Given the description of an element on the screen output the (x, y) to click on. 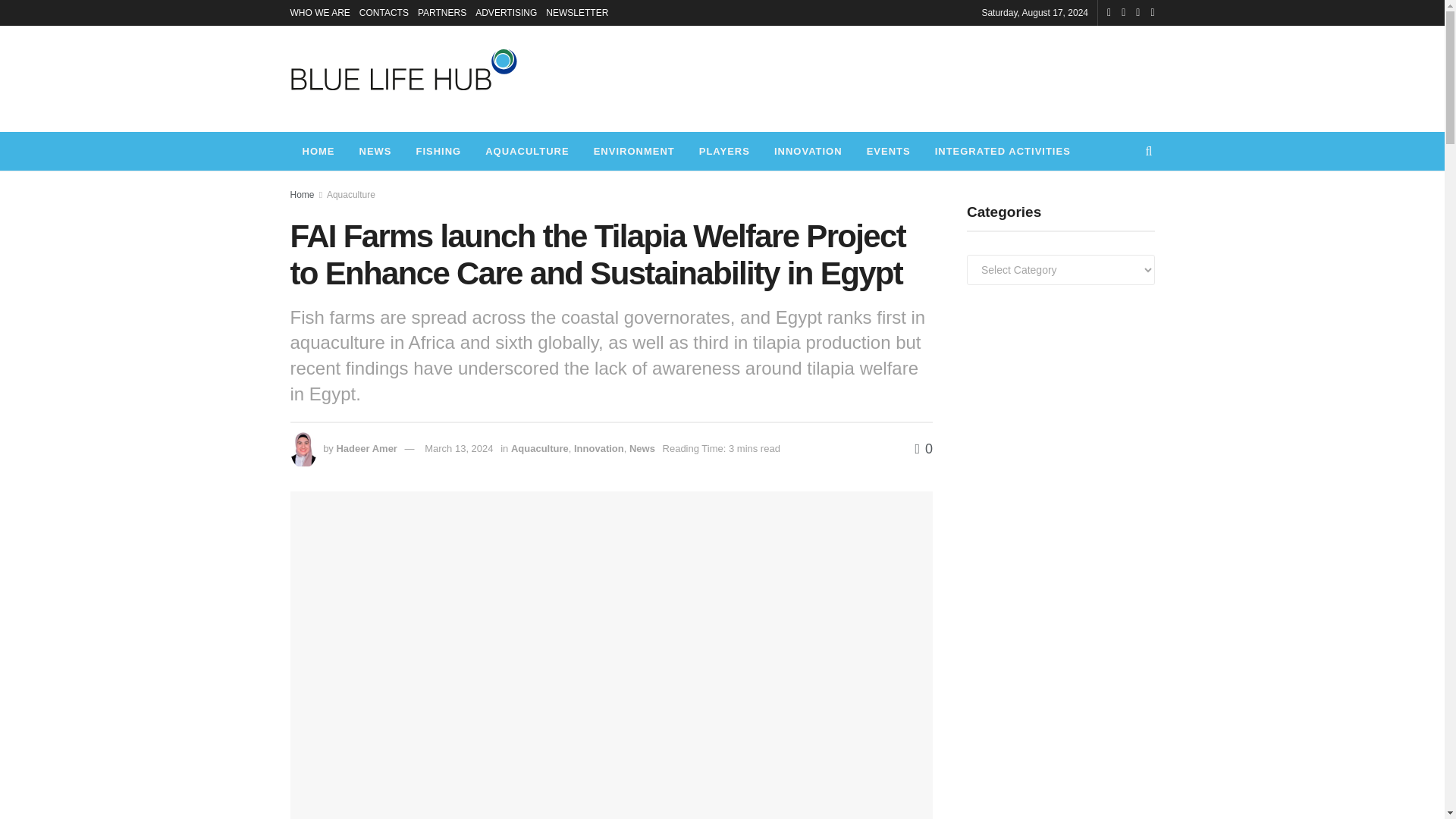
WHO WE ARE (319, 12)
AQUACULTURE (526, 150)
NEWS (375, 150)
Home (301, 194)
Hadeer Amer (366, 448)
INNOVATION (807, 150)
ENVIRONMENT (633, 150)
Aquaculture (350, 194)
PLAYERS (724, 150)
CONTACTS (384, 12)
